Given the description of an element on the screen output the (x, y) to click on. 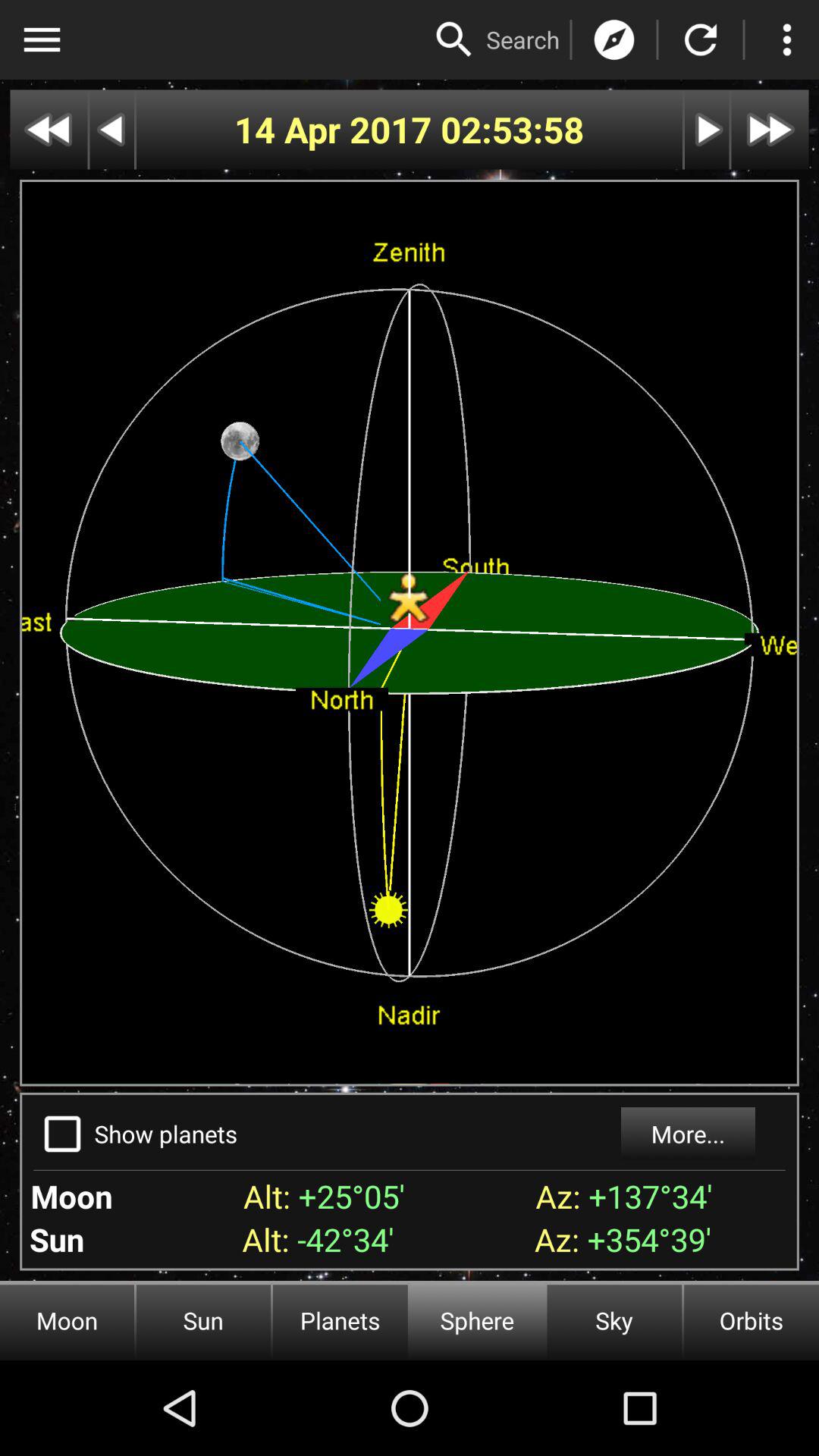
compass button to point at north (614, 39)
